Given the description of an element on the screen output the (x, y) to click on. 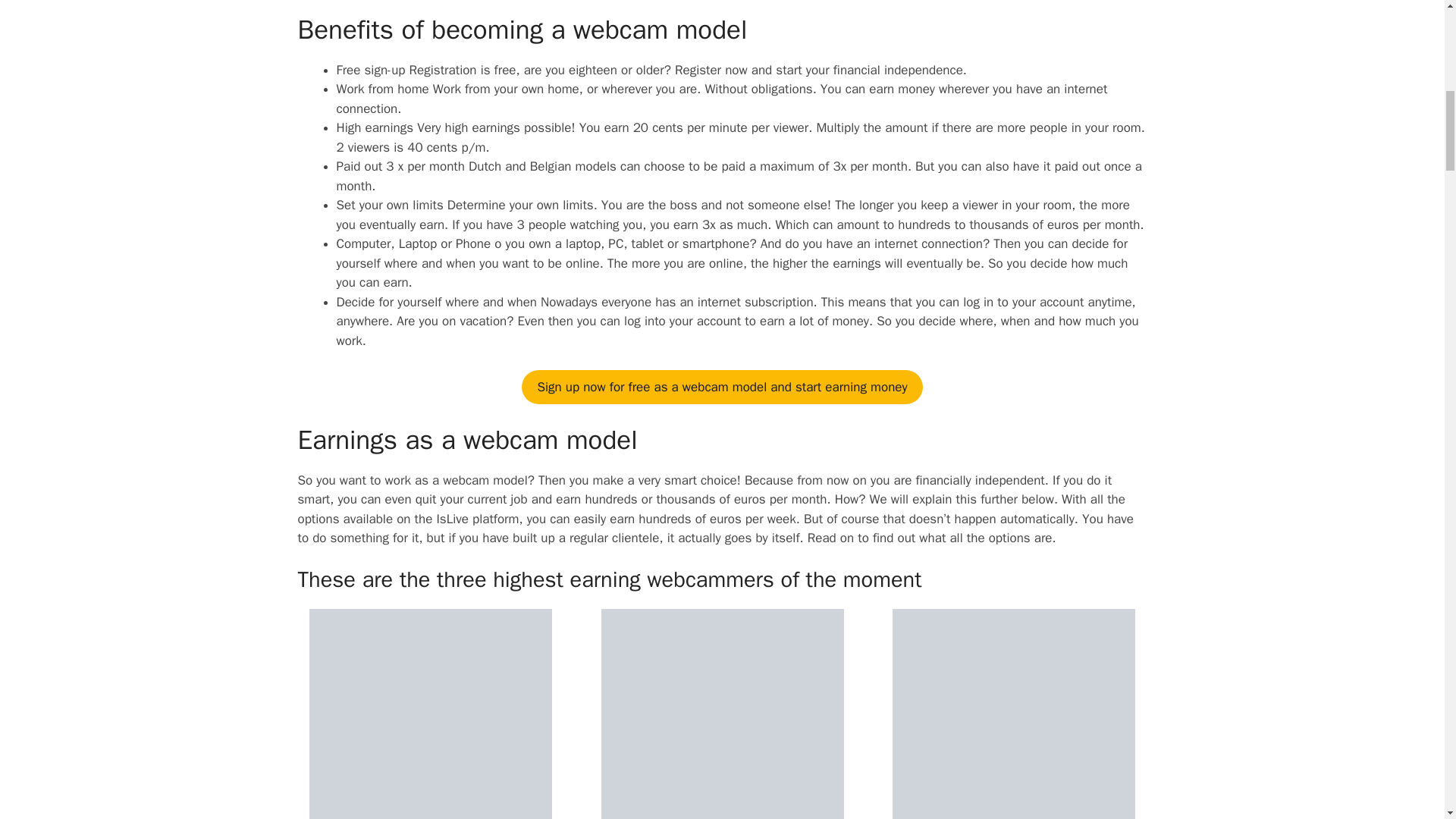
Become a webcam model (721, 387)
